Given the description of an element on the screen output the (x, y) to click on. 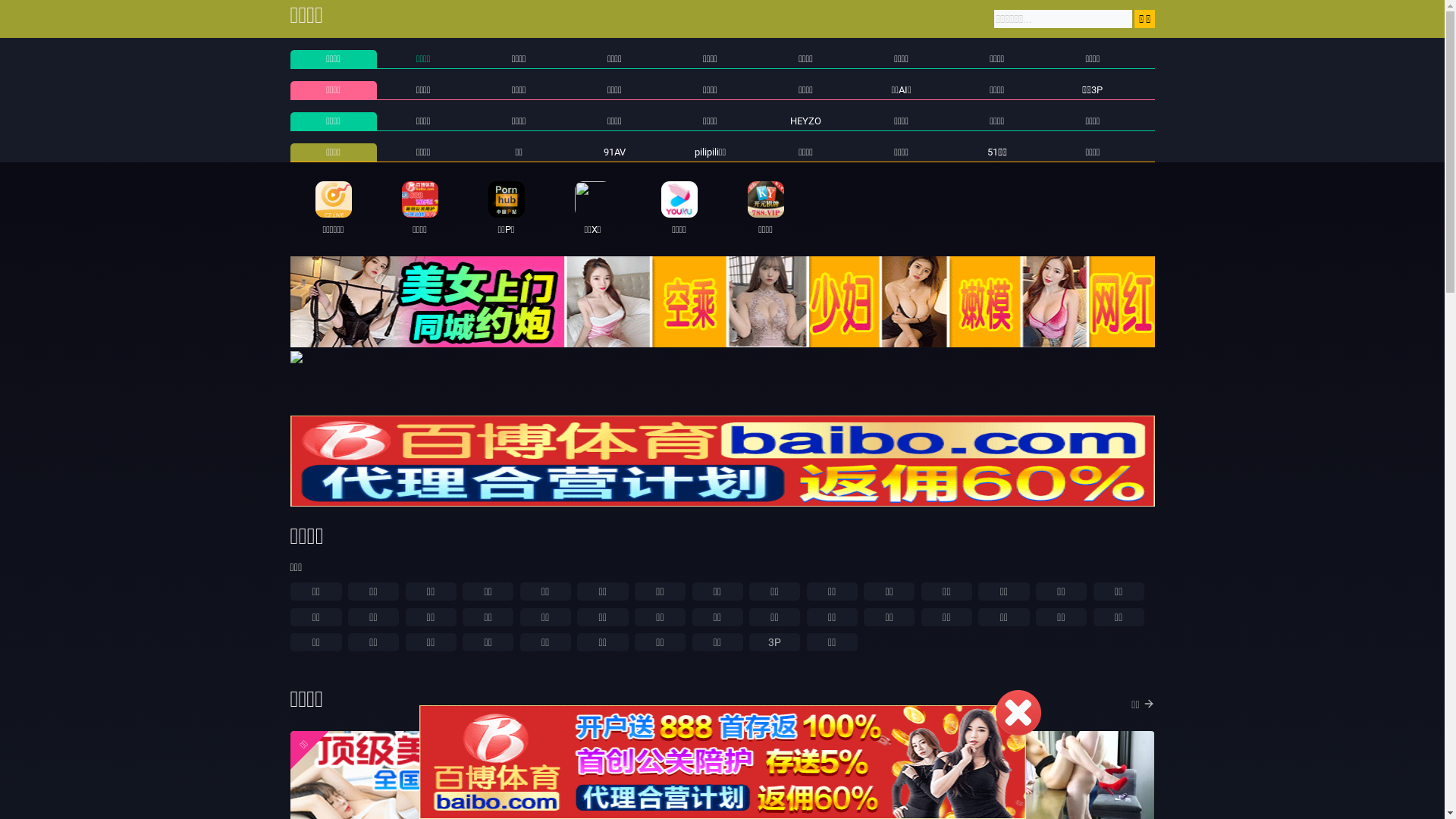
HEYZO Element type: text (805, 120)
3P Element type: text (774, 642)
91AV Element type: text (614, 151)
